Given the description of an element on the screen output the (x, y) to click on. 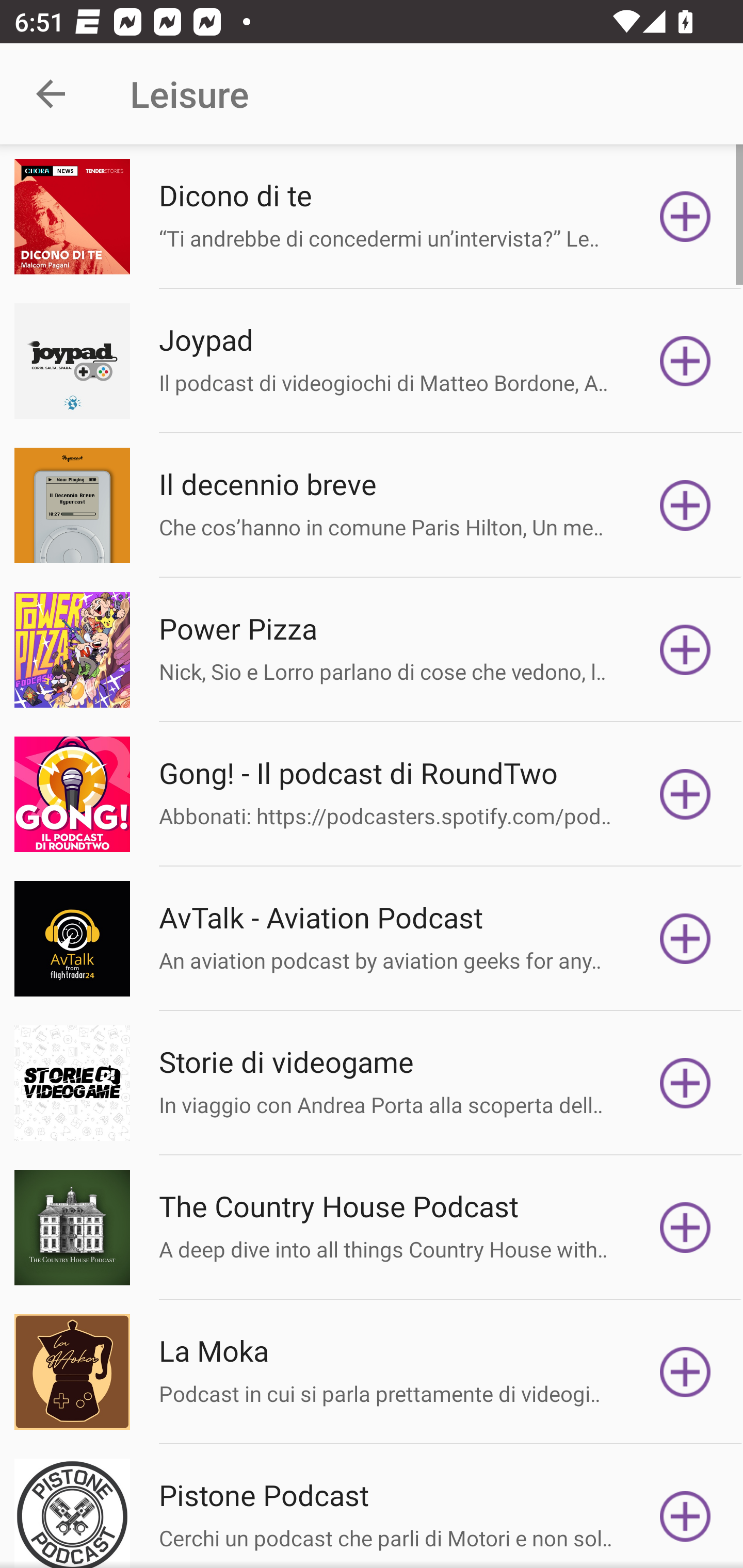
Navigate up (50, 93)
Subscribe (685, 216)
Subscribe (685, 360)
Subscribe (685, 505)
Subscribe (685, 649)
Subscribe (685, 793)
Subscribe (685, 939)
Subscribe (685, 1083)
Subscribe (685, 1227)
Subscribe (685, 1371)
Subscribe (685, 1513)
